Given the description of an element on the screen output the (x, y) to click on. 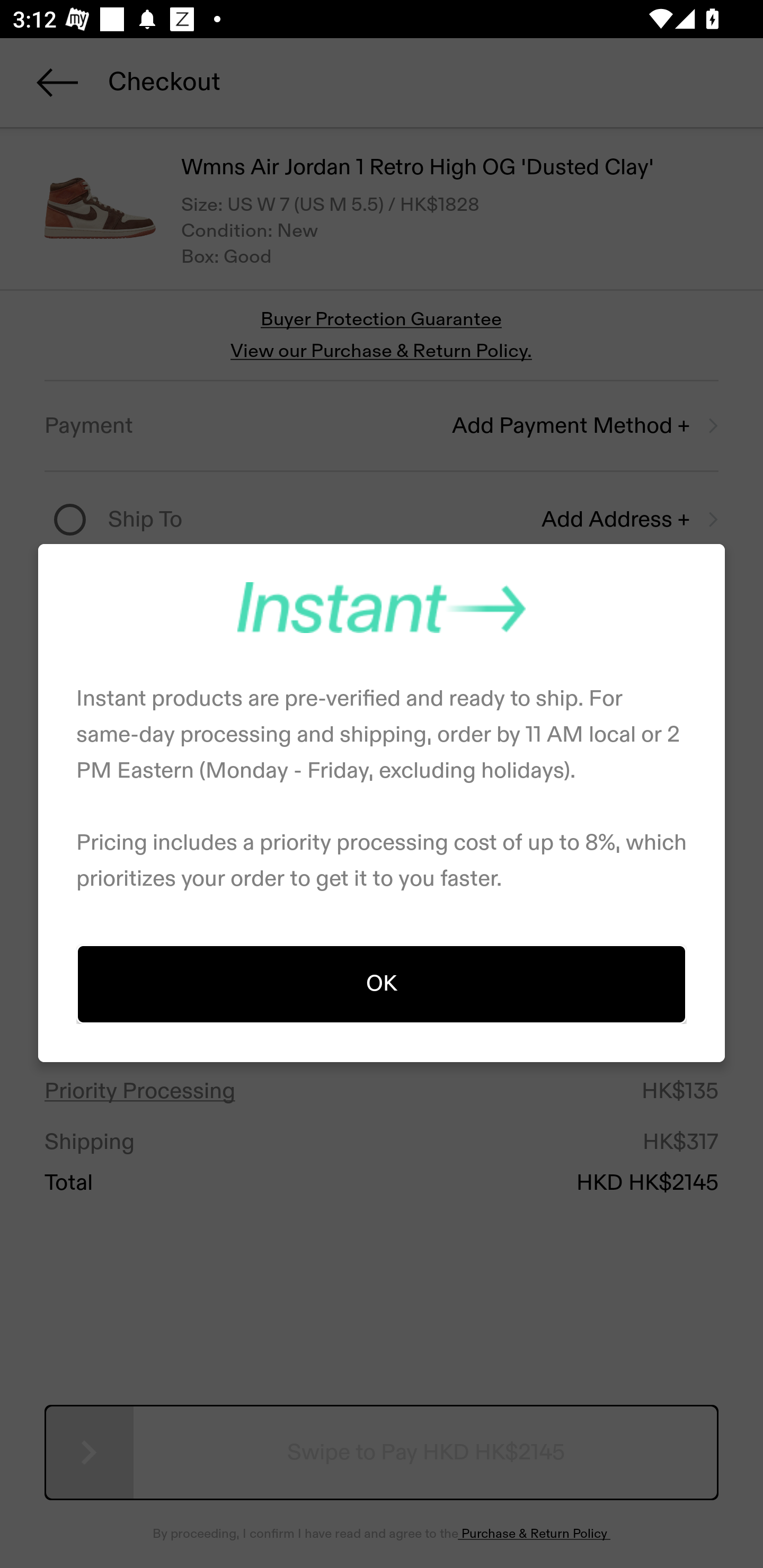
OK (381, 983)
